Given the description of an element on the screen output the (x, y) to click on. 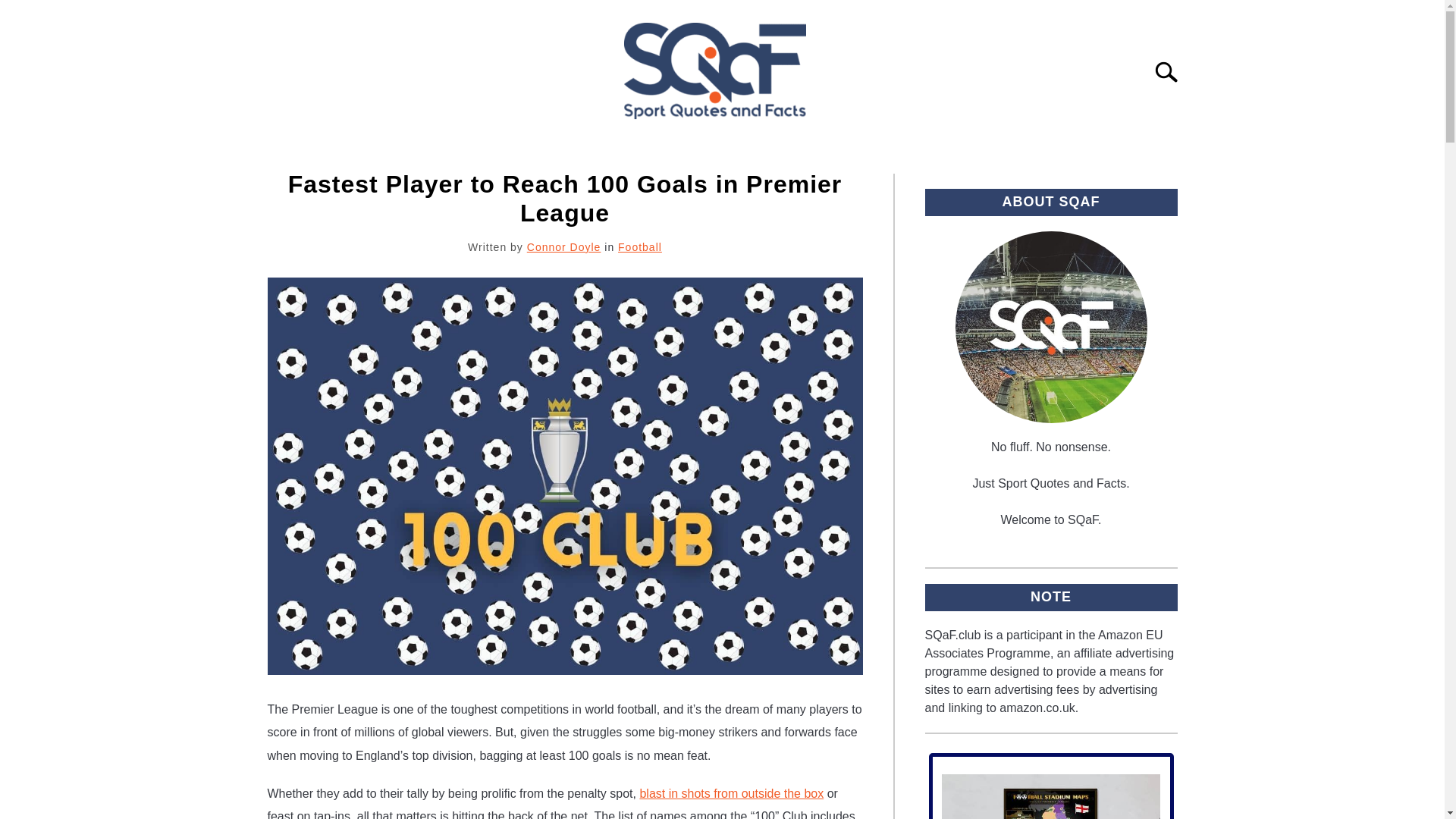
Football (639, 246)
Connor Doyle (564, 246)
blast in shots from outside the box (731, 793)
Search (1172, 71)
